Given the description of an element on the screen output the (x, y) to click on. 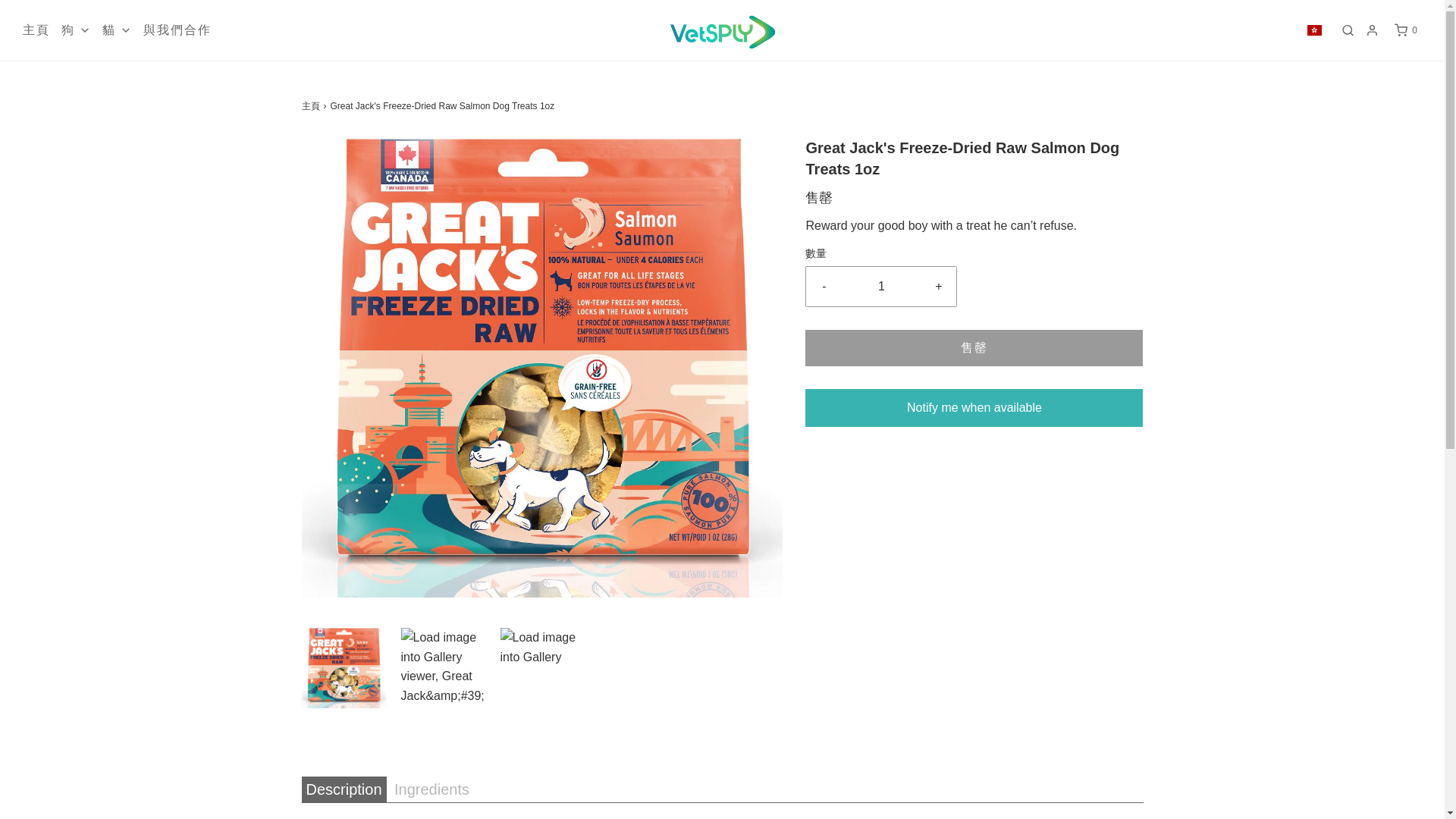
0 (1406, 30)
1 (881, 286)
